Given the description of an element on the screen output the (x, y) to click on. 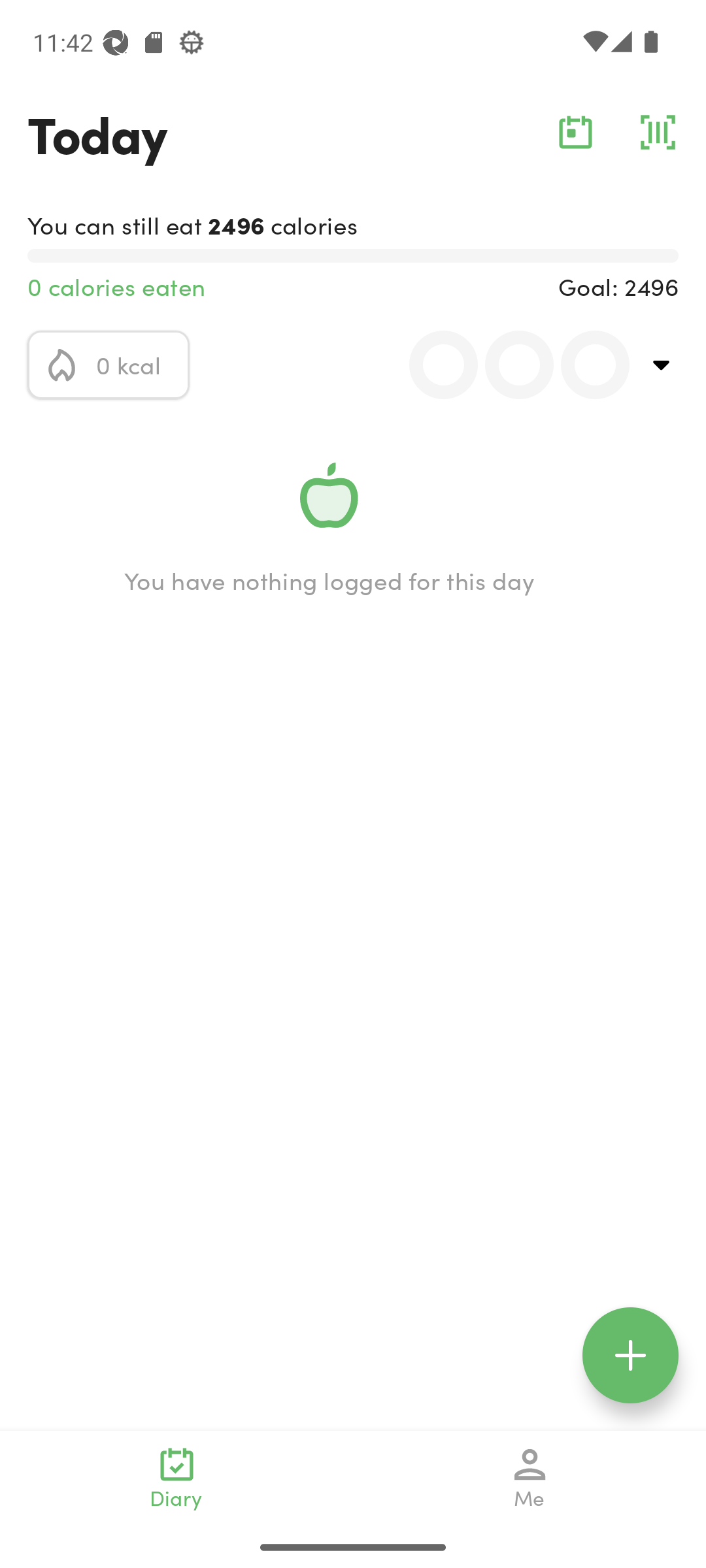
calendar_action (575, 132)
barcode_action (658, 132)
calorie_icon 0 kcal (108, 365)
0.0 0.0 0.0 (508, 365)
top_right_action (661, 365)
floating_action_icon (630, 1355)
Me navigation_icon (529, 1478)
